Given the description of an element on the screen output the (x, y) to click on. 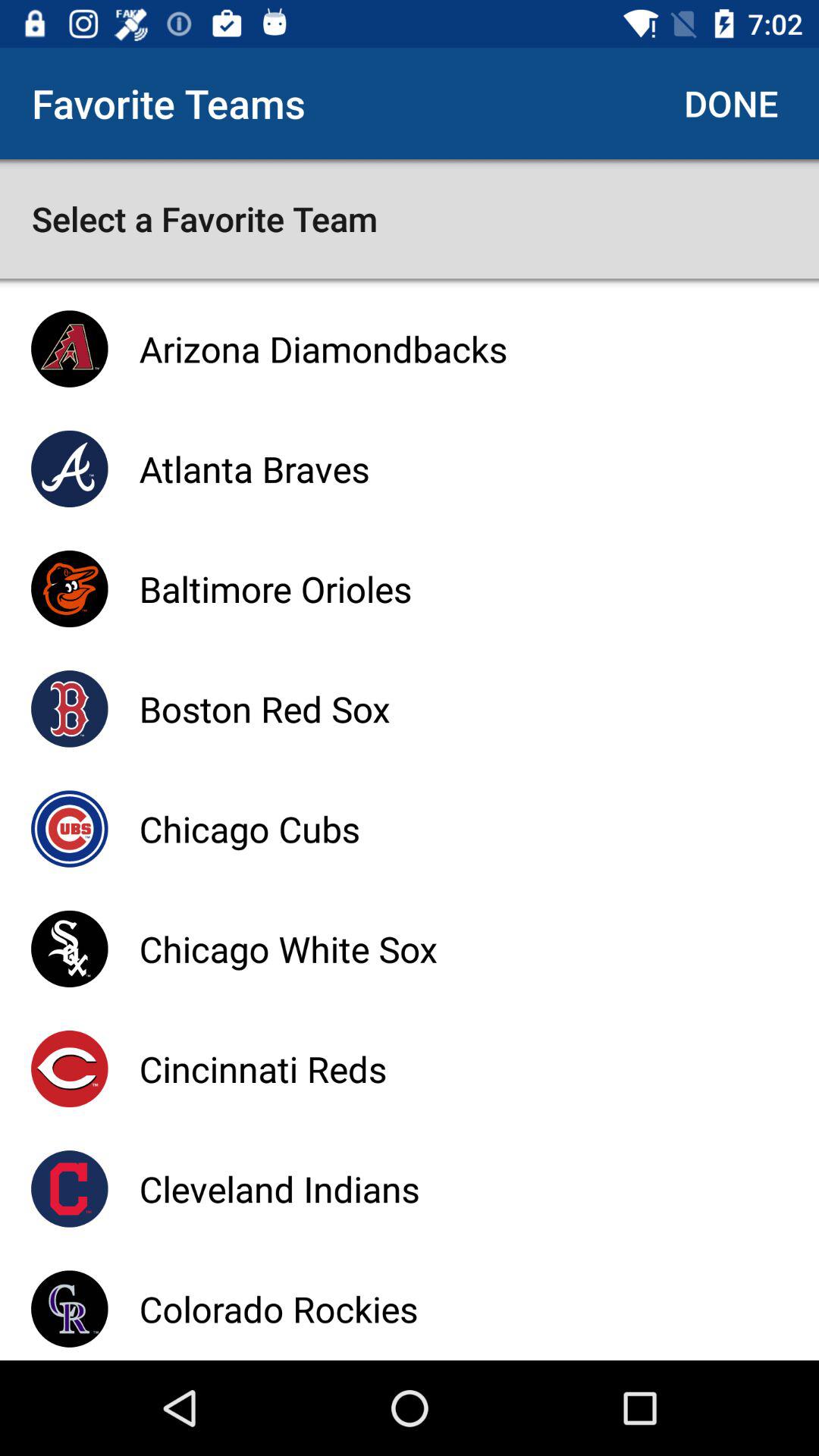
click item at the top right corner (731, 103)
